Given the description of an element on the screen output the (x, y) to click on. 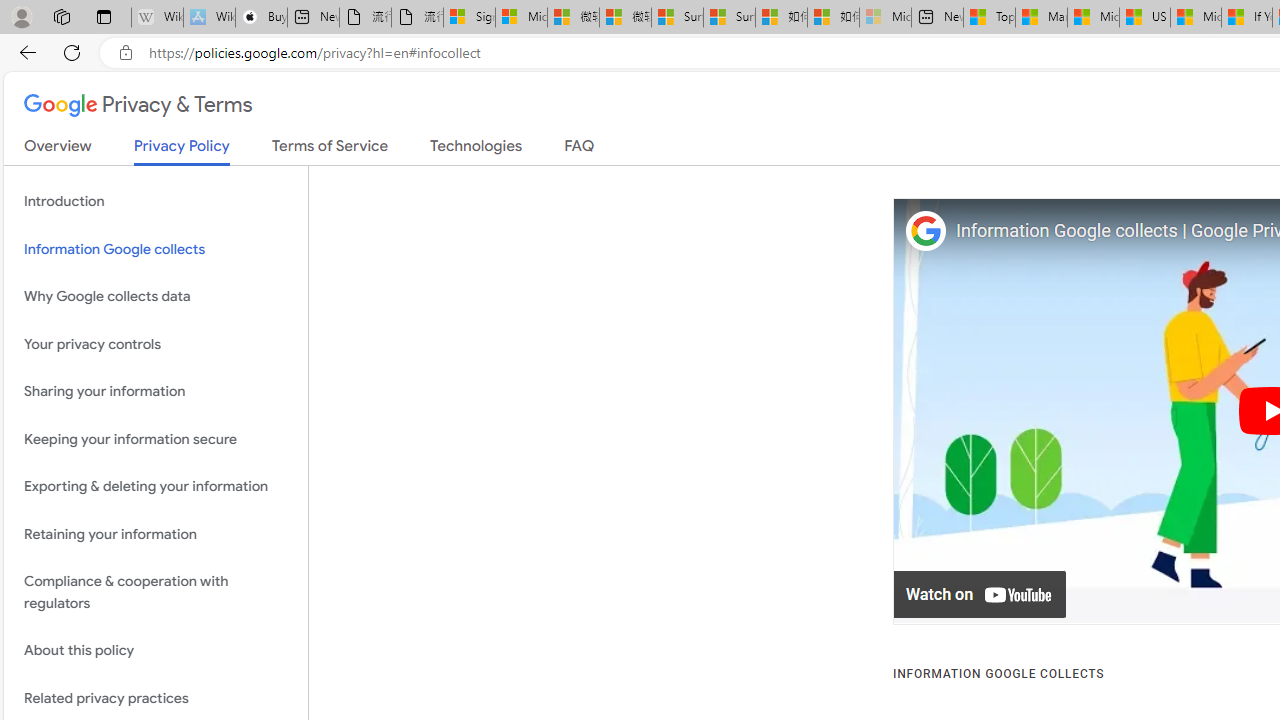
Buy iPad - Apple (260, 17)
US Heat Deaths Soared To Record High Last Year (1144, 17)
